Given the description of an element on the screen output the (x, y) to click on. 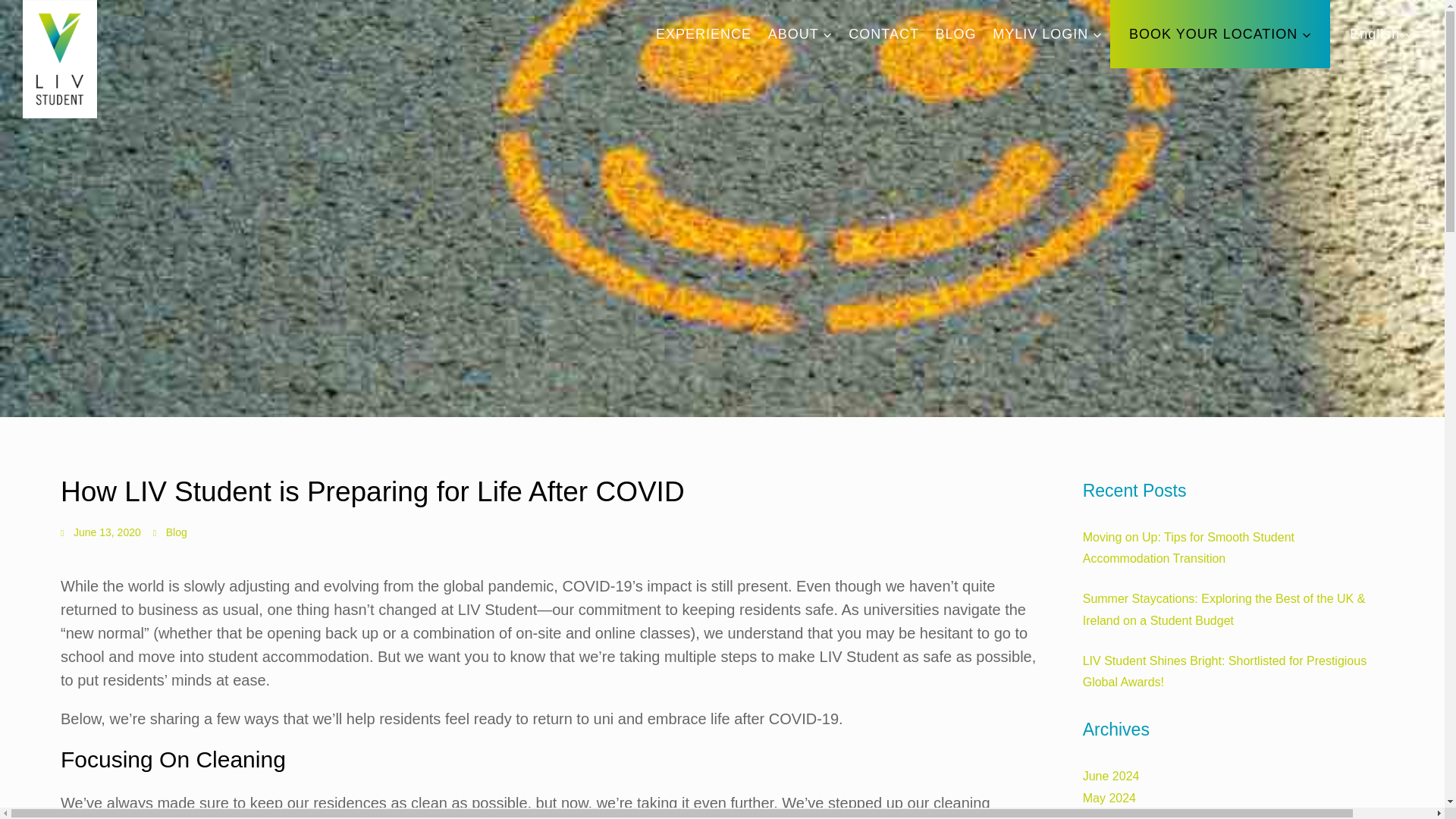
BOOK YOUR LOCATION (1219, 33)
June 13, 2020 (101, 532)
MYLIV LOGIN (1046, 33)
English (1381, 33)
CONTACT (883, 33)
ABOUT (800, 33)
EXPERIENCE (703, 33)
